Given the description of an element on the screen output the (x, y) to click on. 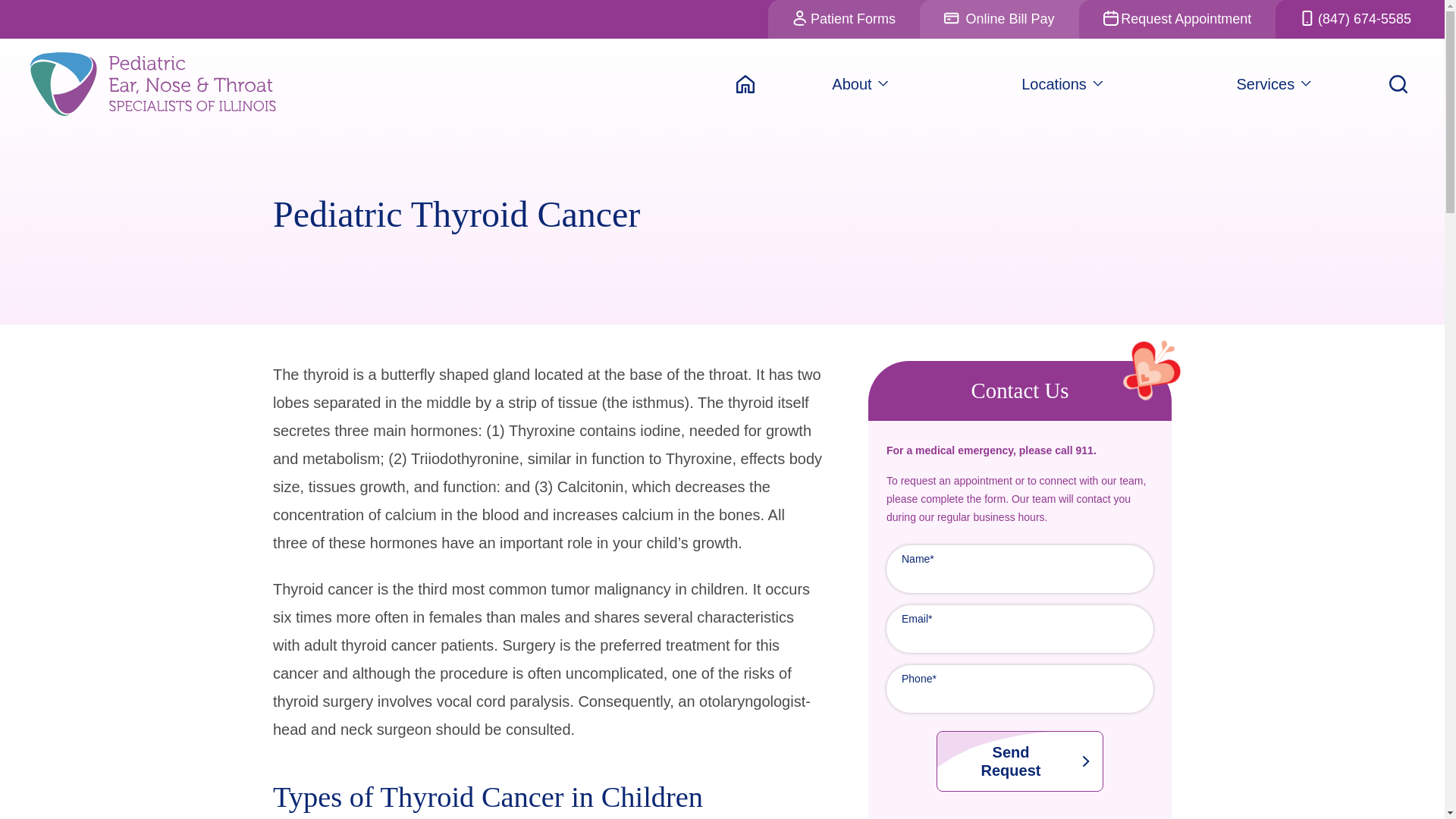
Home (745, 84)
Patient Forms (848, 19)
Request Appointment (1181, 19)
Online Bill Pay (1003, 19)
